Given the description of an element on the screen output the (x, y) to click on. 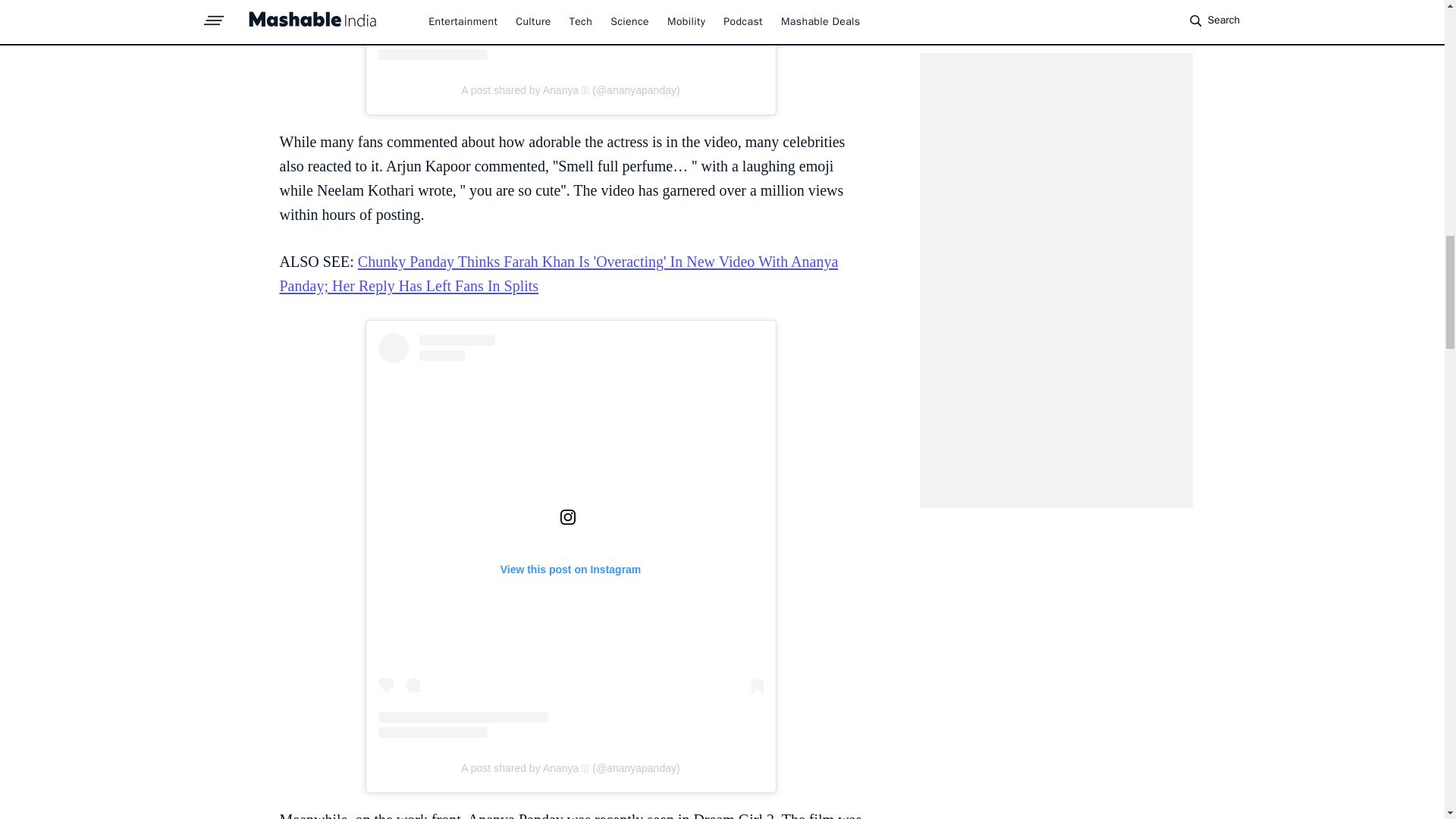
View this post on Instagram (569, 30)
